Given the description of an element on the screen output the (x, y) to click on. 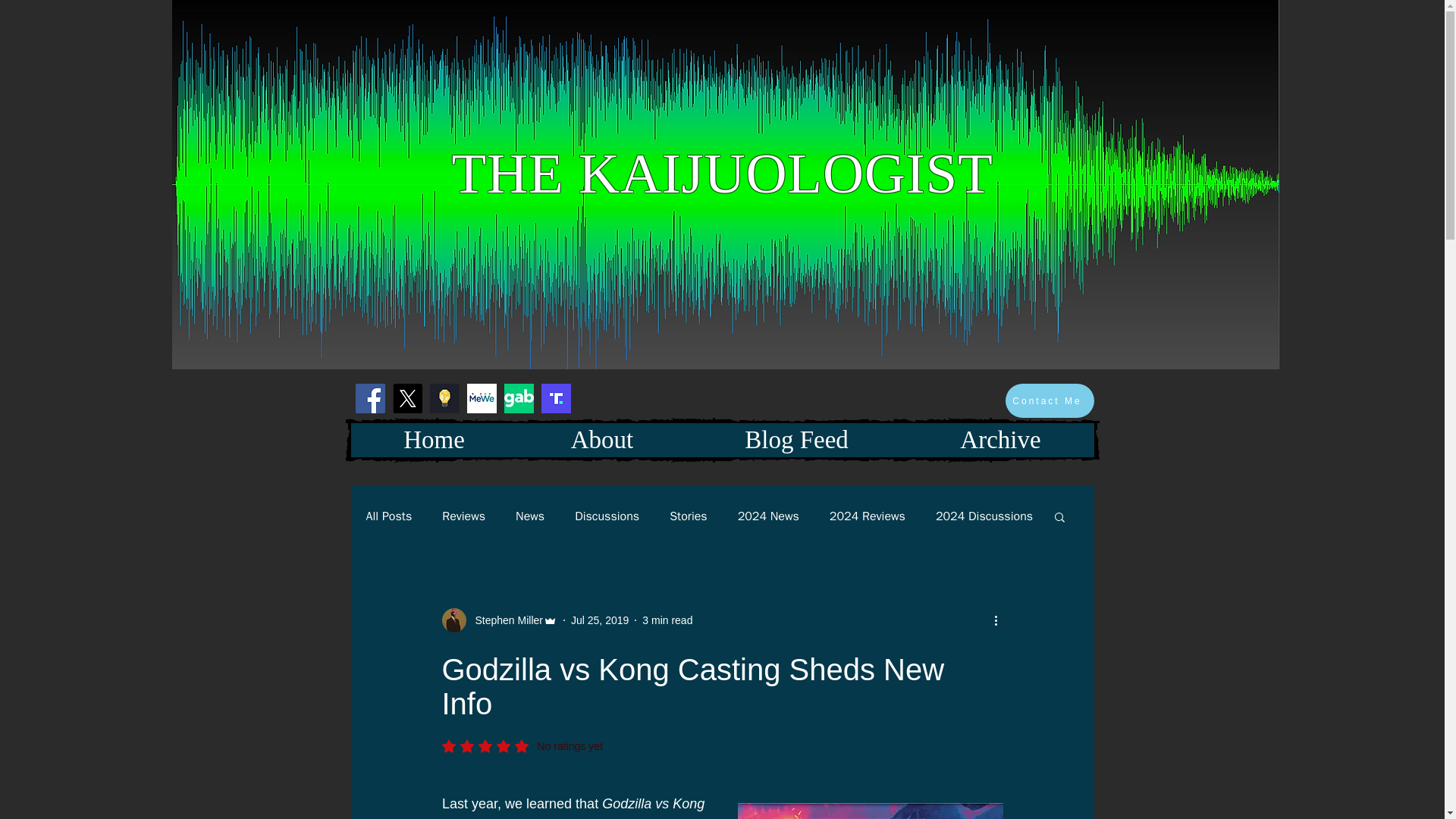
All Posts (388, 515)
Discussions (607, 515)
THE KAIJUOLOGIST (721, 172)
2024 News (768, 515)
Reviews (463, 515)
2024 Reviews (867, 515)
Stephen Miller (504, 620)
Contact Me (1050, 400)
3 min read (667, 620)
Stories (688, 515)
2024 Discussions (984, 515)
News (529, 515)
Jul 25, 2019 (599, 620)
